Given the description of an element on the screen output the (x, y) to click on. 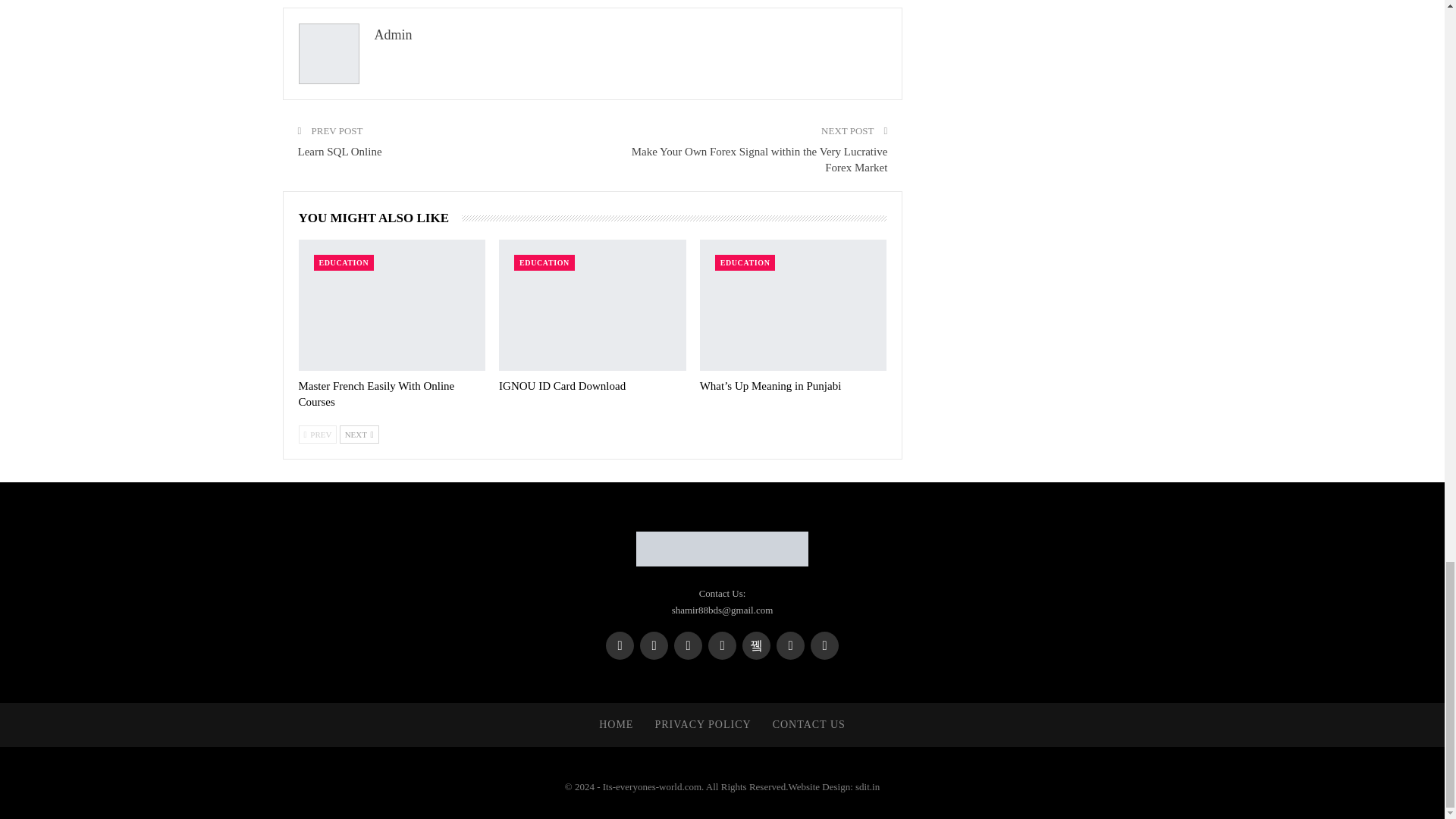
IGNOU ID Card Download (562, 386)
IGNOU ID Card Download (592, 305)
Previous (317, 434)
Next (358, 434)
Master French Easily With Online Courses (392, 305)
Master French Easily With Online Courses (376, 393)
